Given the description of an element on the screen output the (x, y) to click on. 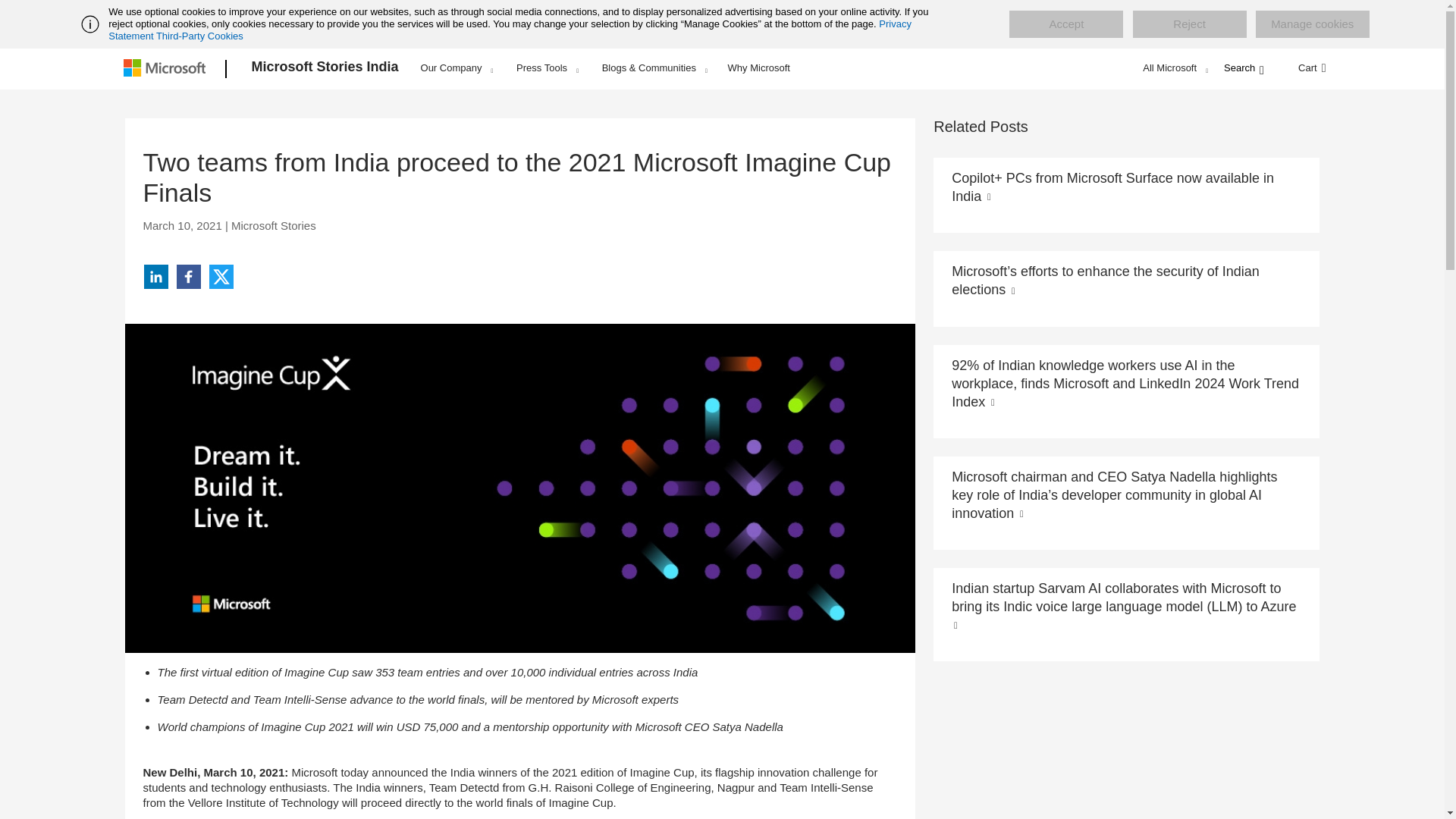
Reject (1189, 23)
Microsoft Stories India (325, 69)
Manage cookies (1312, 23)
Press Tools (547, 67)
Accept (1065, 23)
Microsoft (167, 69)
Privacy Statement (509, 29)
Our Company (456, 67)
All Microsoft (1173, 67)
